Given the description of an element on the screen output the (x, y) to click on. 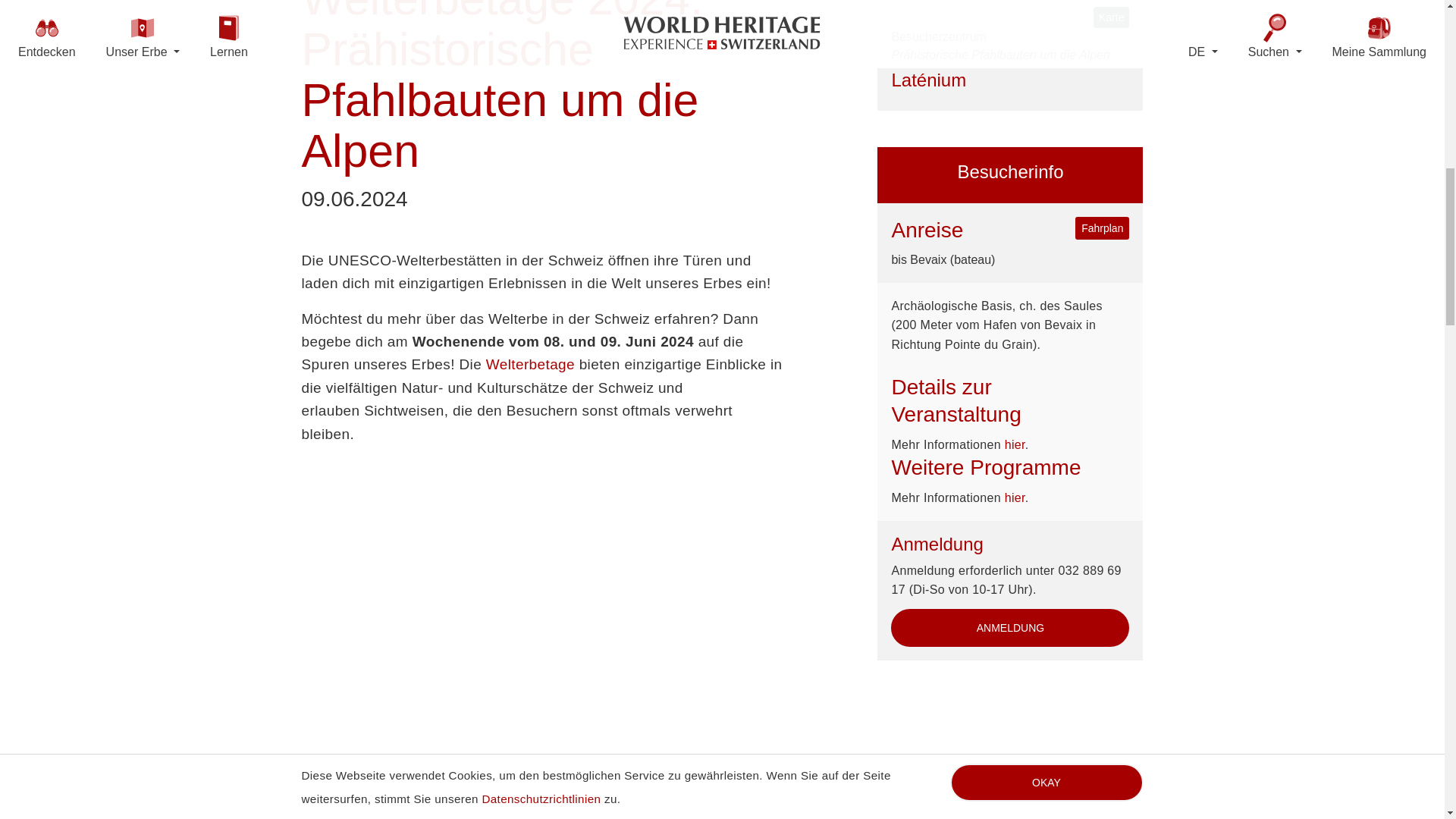
YouTube video player (542, 617)
